Given the description of an element on the screen output the (x, y) to click on. 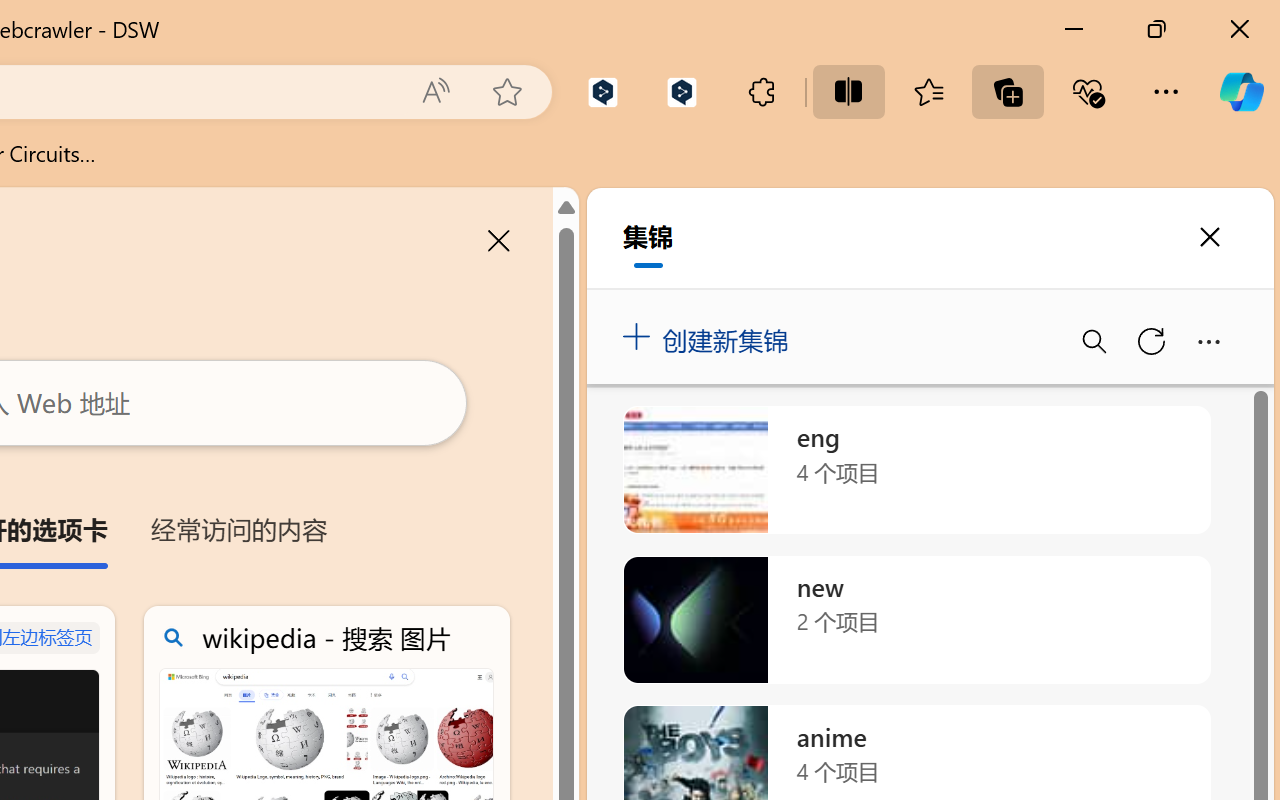
Copilot (Ctrl+Shift+.) (1241, 91)
